Given the description of an element on the screen output the (x, y) to click on. 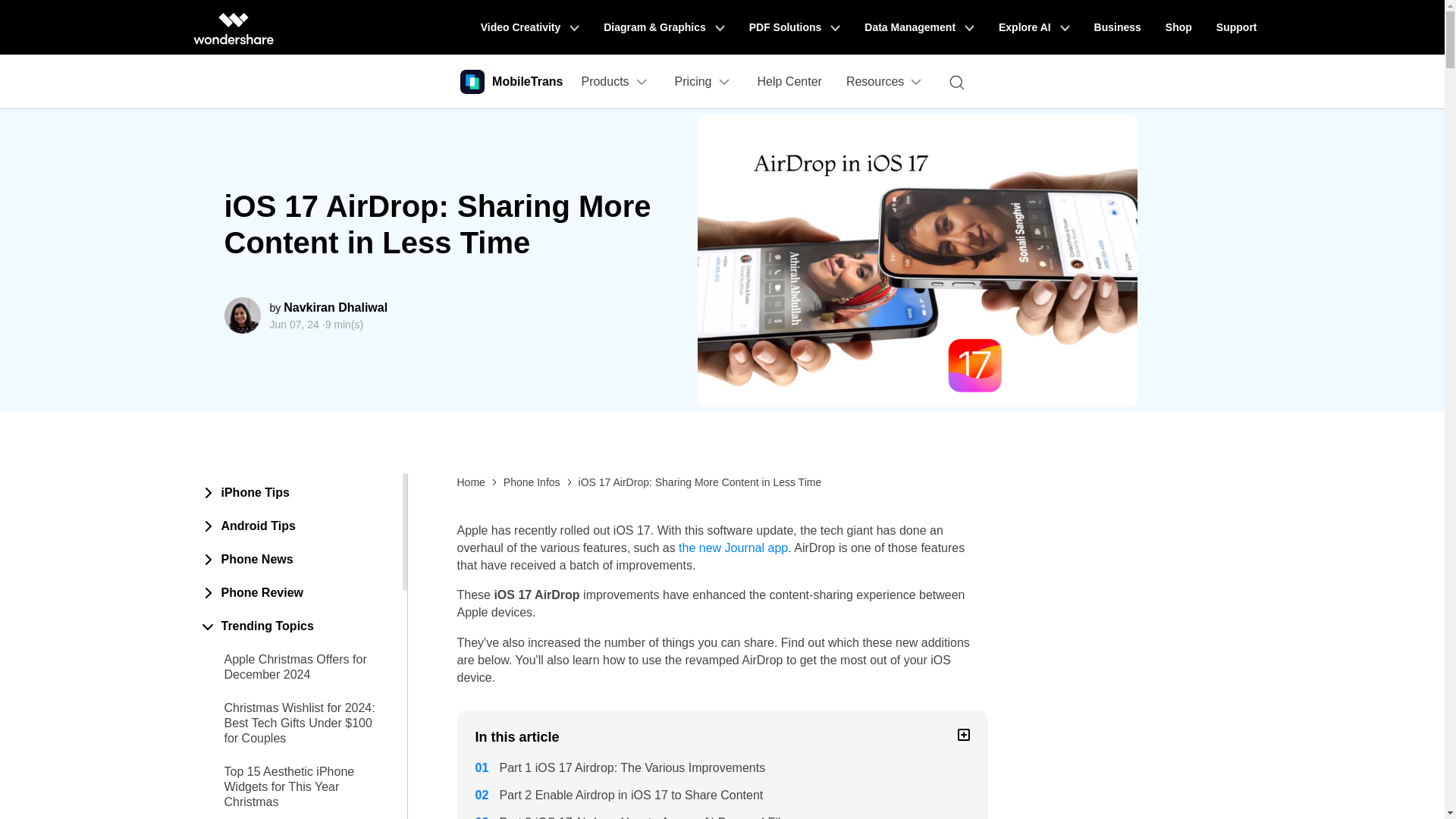
PDF Solutions (794, 27)
Data Management (919, 27)
Video Creativity (529, 27)
